Given the description of an element on the screen output the (x, y) to click on. 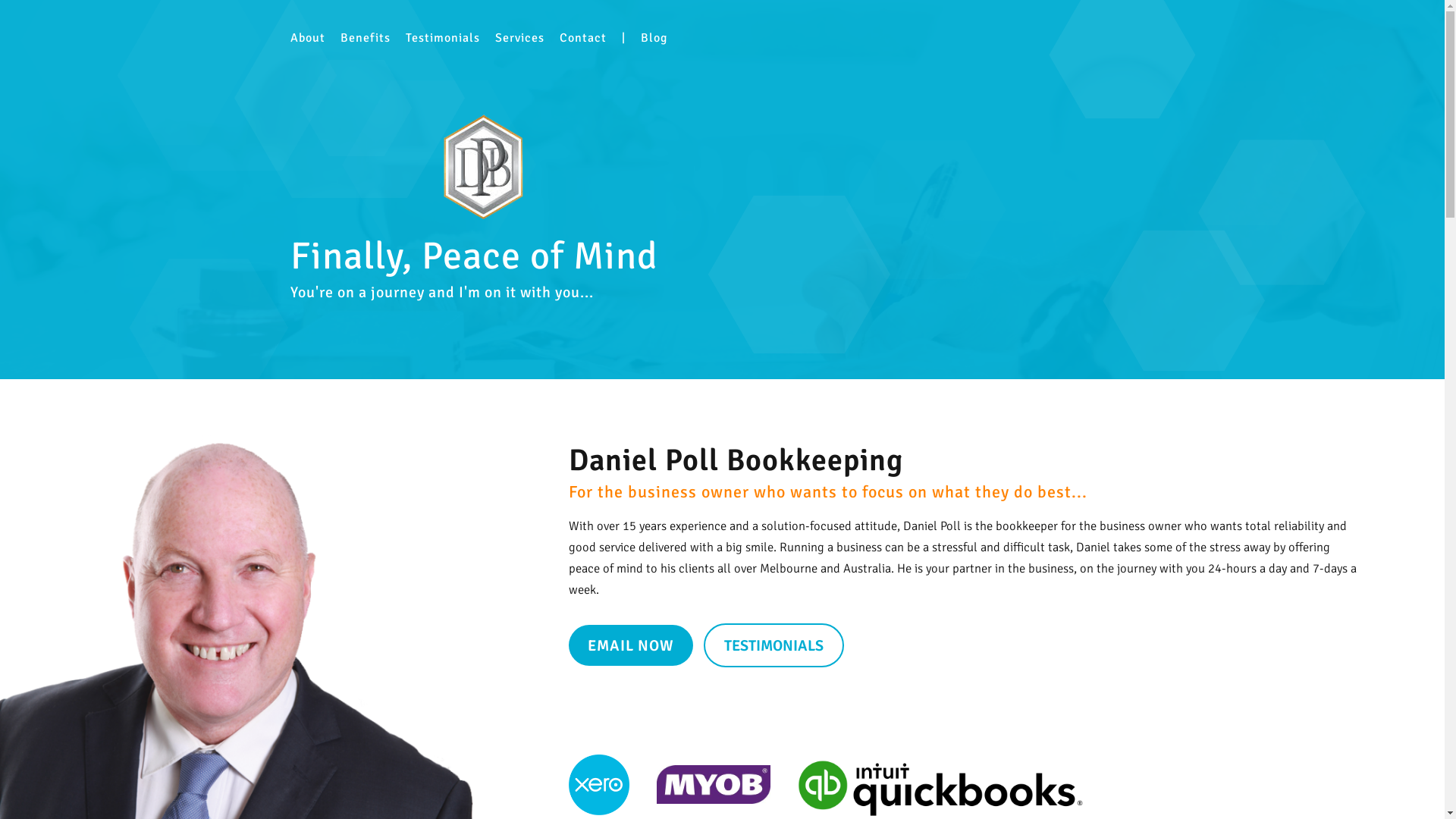
TESTIMONIALS Element type: text (773, 645)
Contact Element type: text (582, 37)
About Element type: text (306, 37)
Blog Element type: text (653, 37)
| Element type: text (623, 37)
Benefits Element type: text (364, 37)
EMAIL NOW Element type: text (630, 644)
Testimonials Element type: text (441, 37)
Services Element type: text (518, 37)
